Given the description of an element on the screen output the (x, y) to click on. 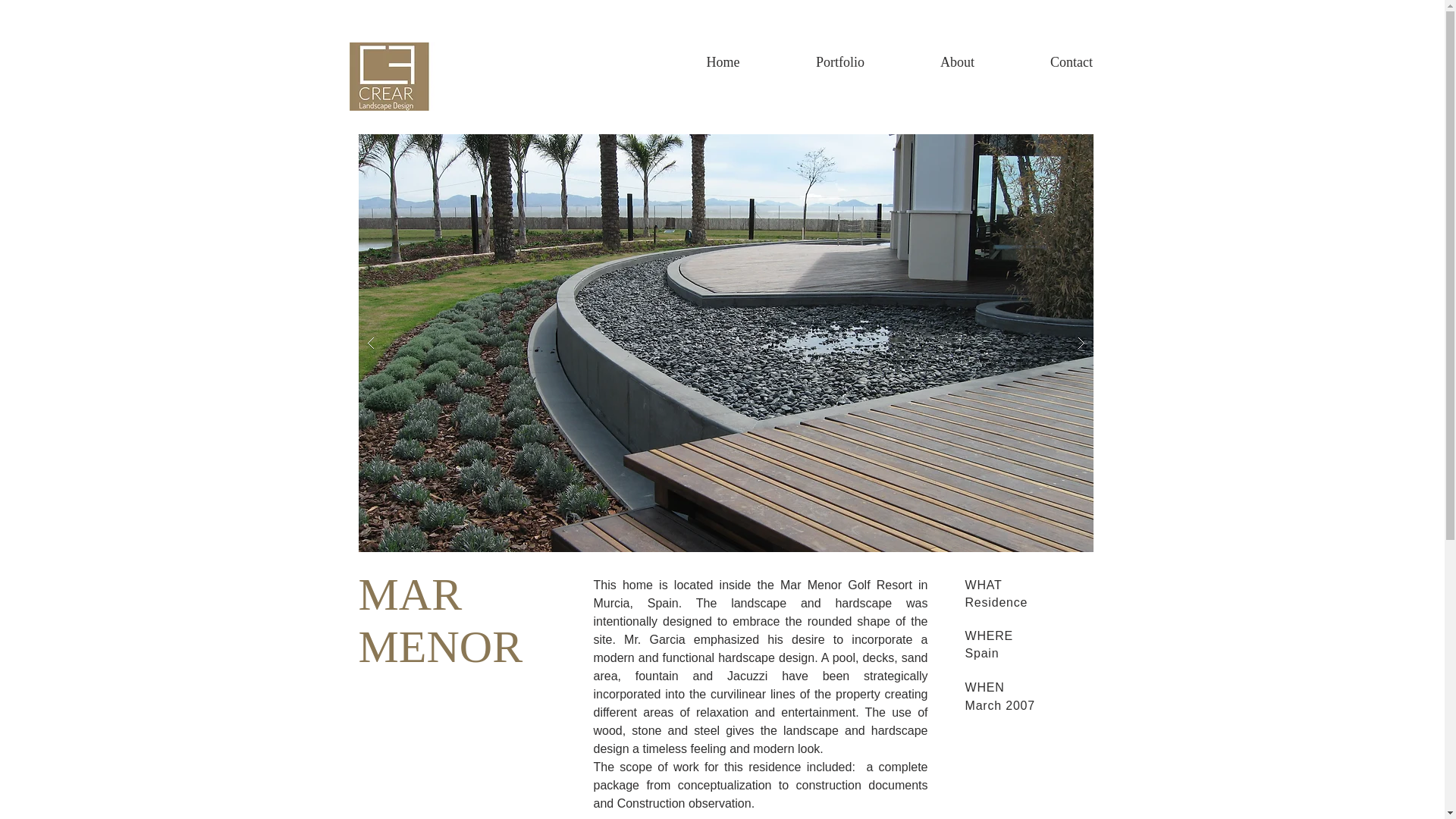
Portfolio (839, 61)
About (956, 61)
Contact (1071, 61)
Home (722, 61)
